Given the description of an element on the screen output the (x, y) to click on. 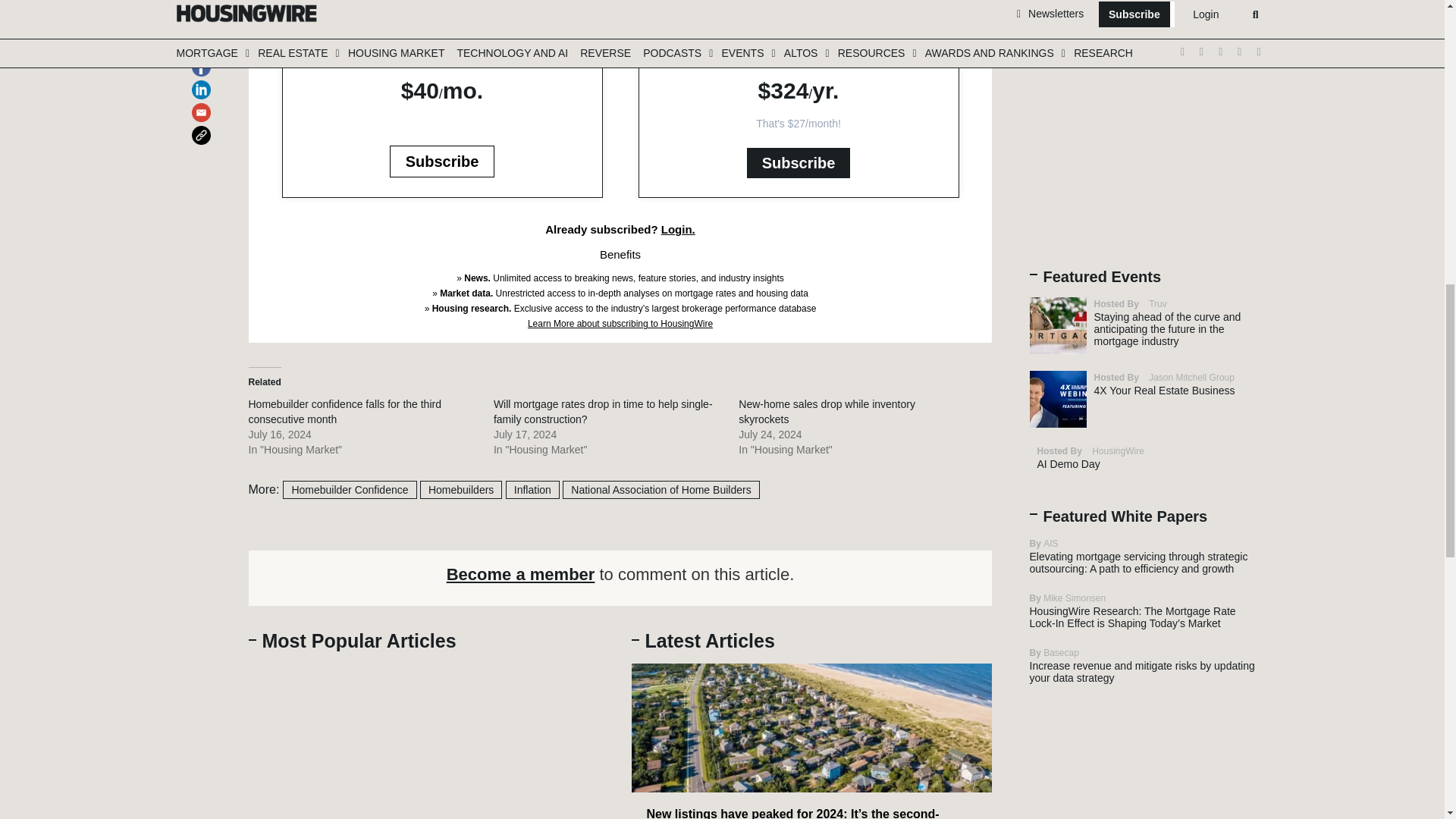
Homebuilder confidence falls for the third consecutive month (344, 411)
